Given the description of an element on the screen output the (x, y) to click on. 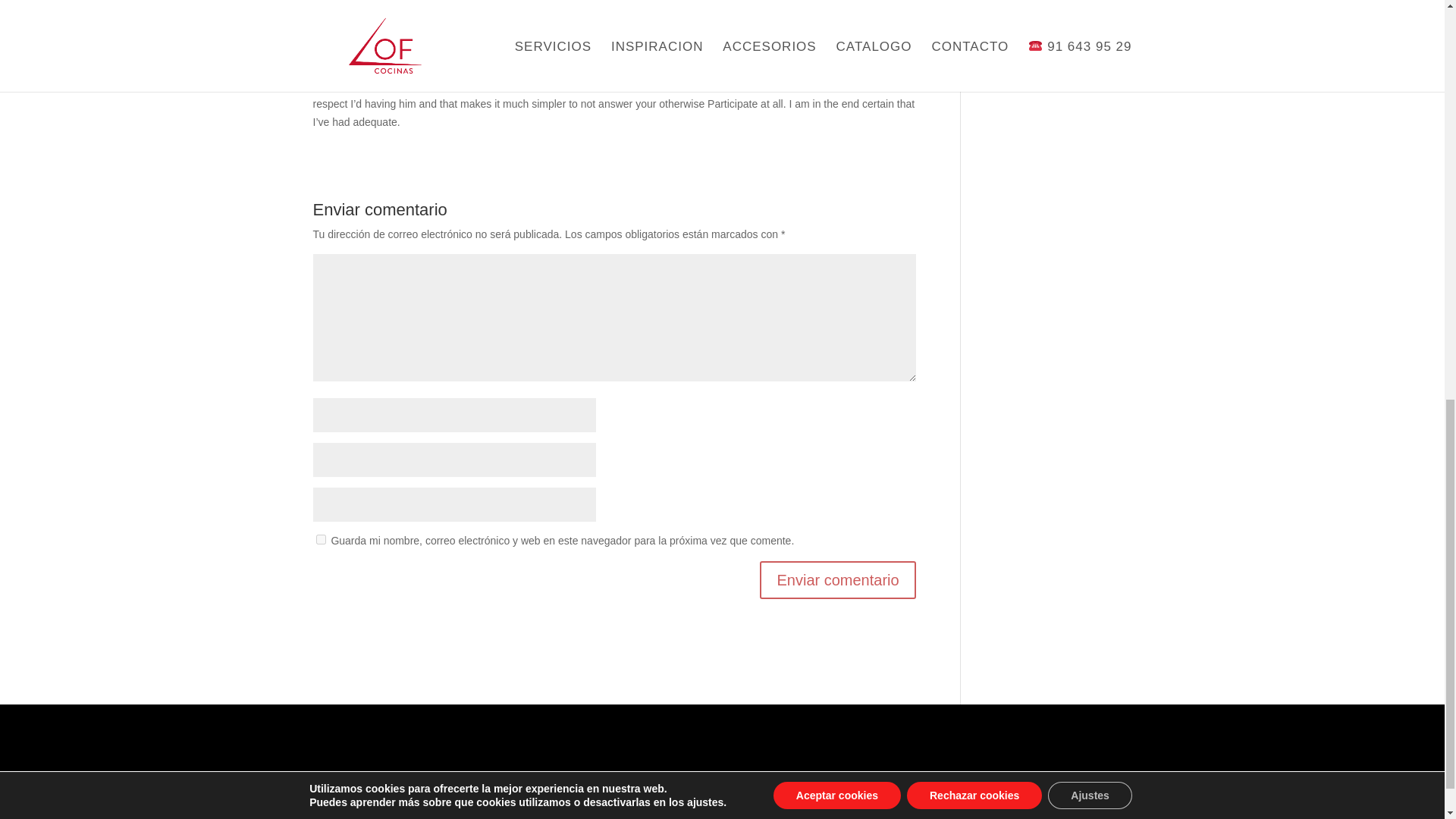
Enviar comentario (837, 579)
Enviar comentario (837, 579)
yes (319, 539)
